Given the description of an element on the screen output the (x, y) to click on. 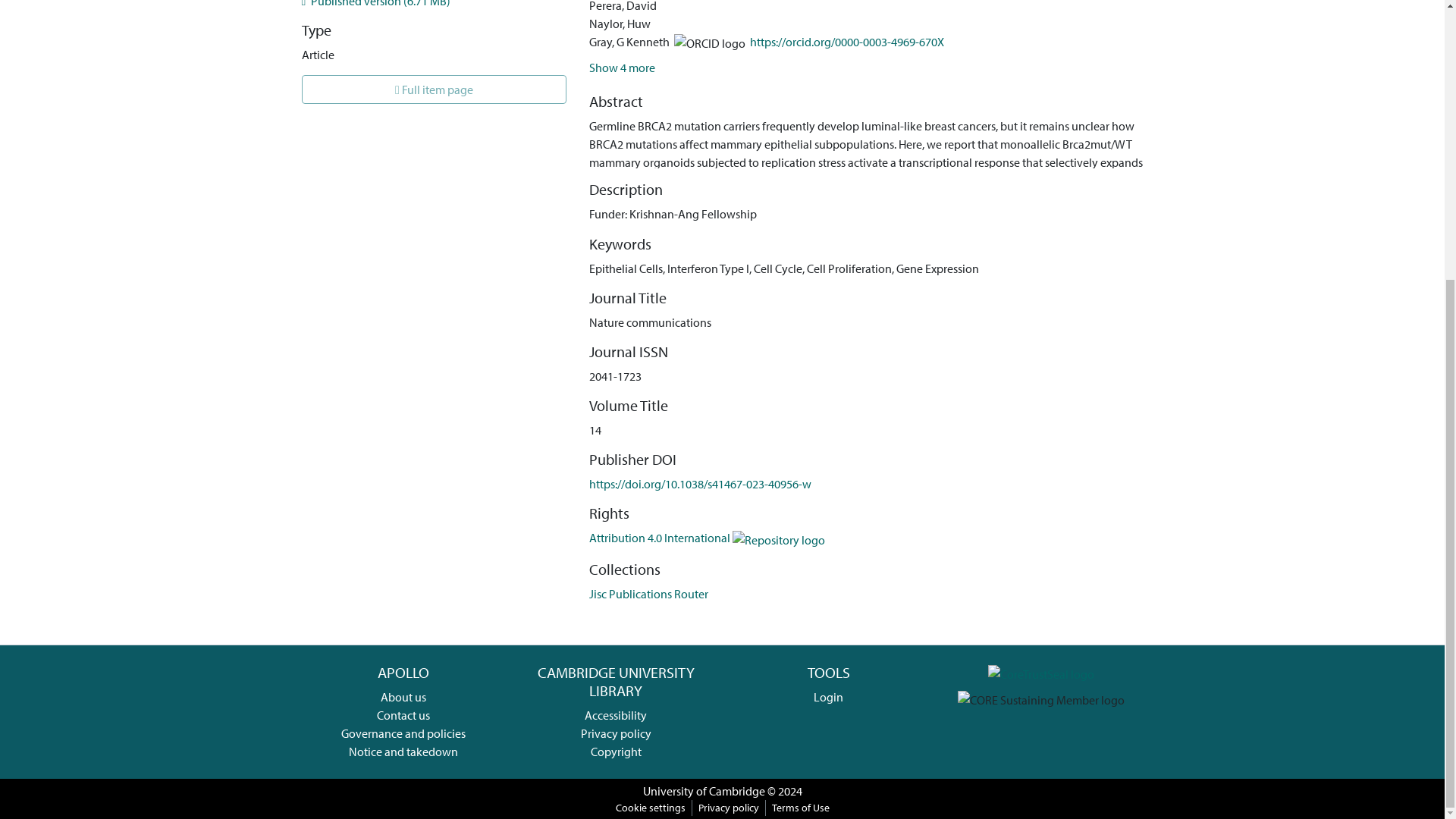
Show 4 more (622, 67)
Full item page (434, 89)
Privacy policy (615, 733)
About us (403, 696)
Copyright (616, 751)
Notice and takedown (403, 751)
Accessibility (615, 714)
Jisc Publications Router (648, 593)
Apollo CTS full application (1041, 672)
Governance and policies (402, 733)
